Given the description of an element on the screen output the (x, y) to click on. 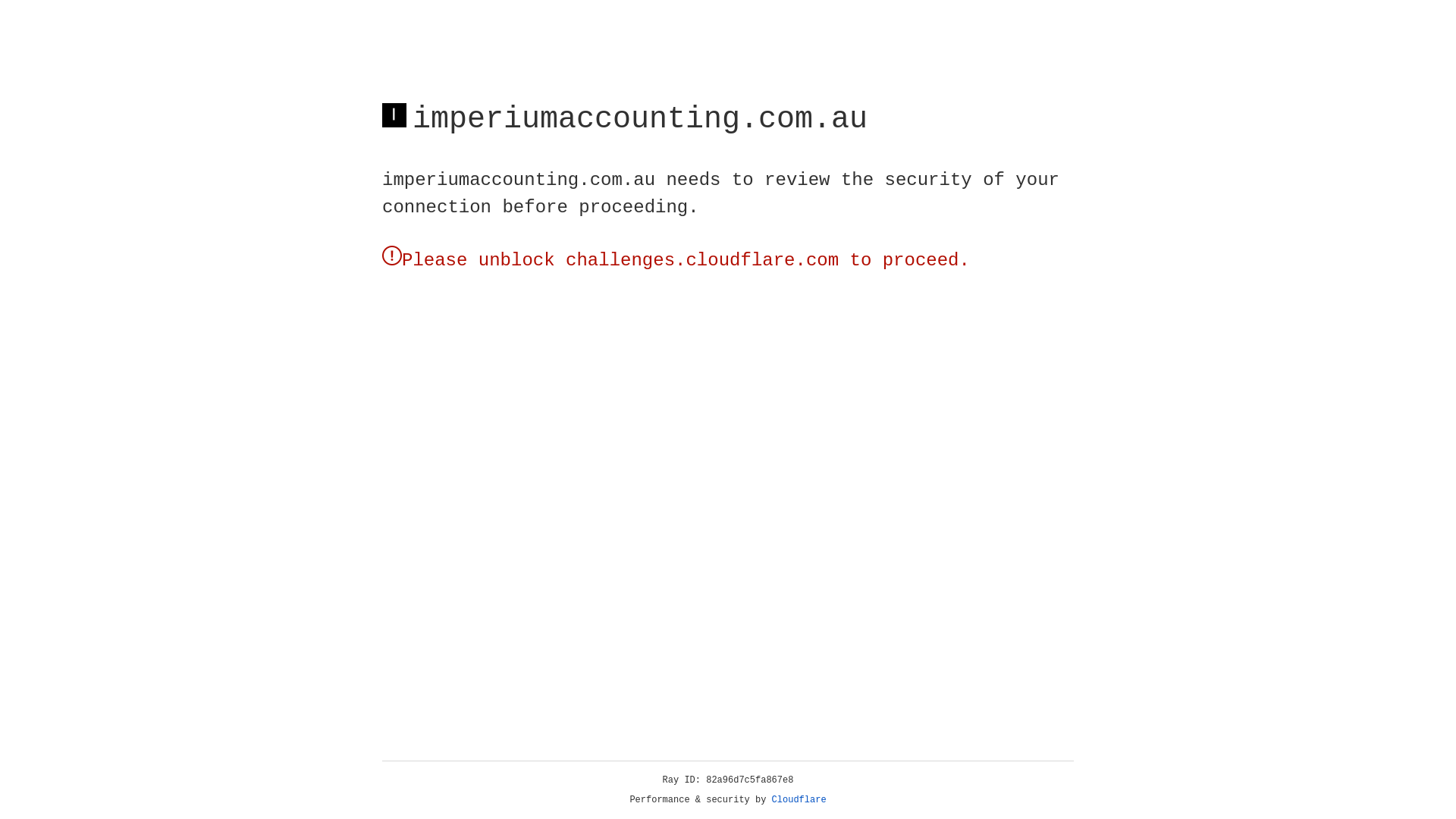
Cloudflare Element type: text (798, 799)
